Given the description of an element on the screen output the (x, y) to click on. 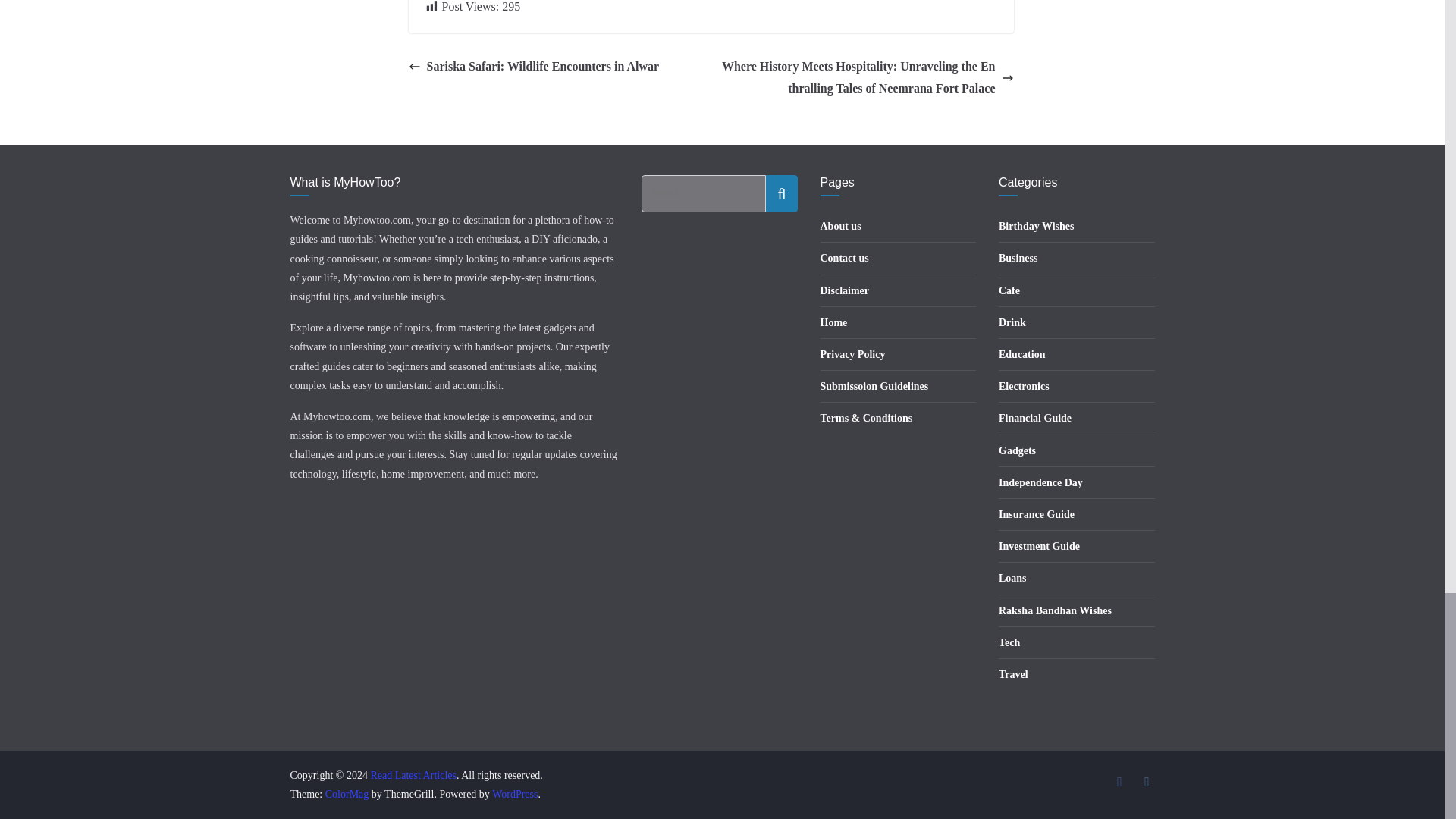
Gadgets (1016, 450)
Financial Guide (1034, 418)
WordPress (514, 794)
Contact us (845, 257)
Education (1021, 354)
Electronics (1023, 386)
ColorMag (346, 794)
About us (841, 225)
Insurance Guide (1036, 514)
Drink (1012, 322)
